Given the description of an element on the screen output the (x, y) to click on. 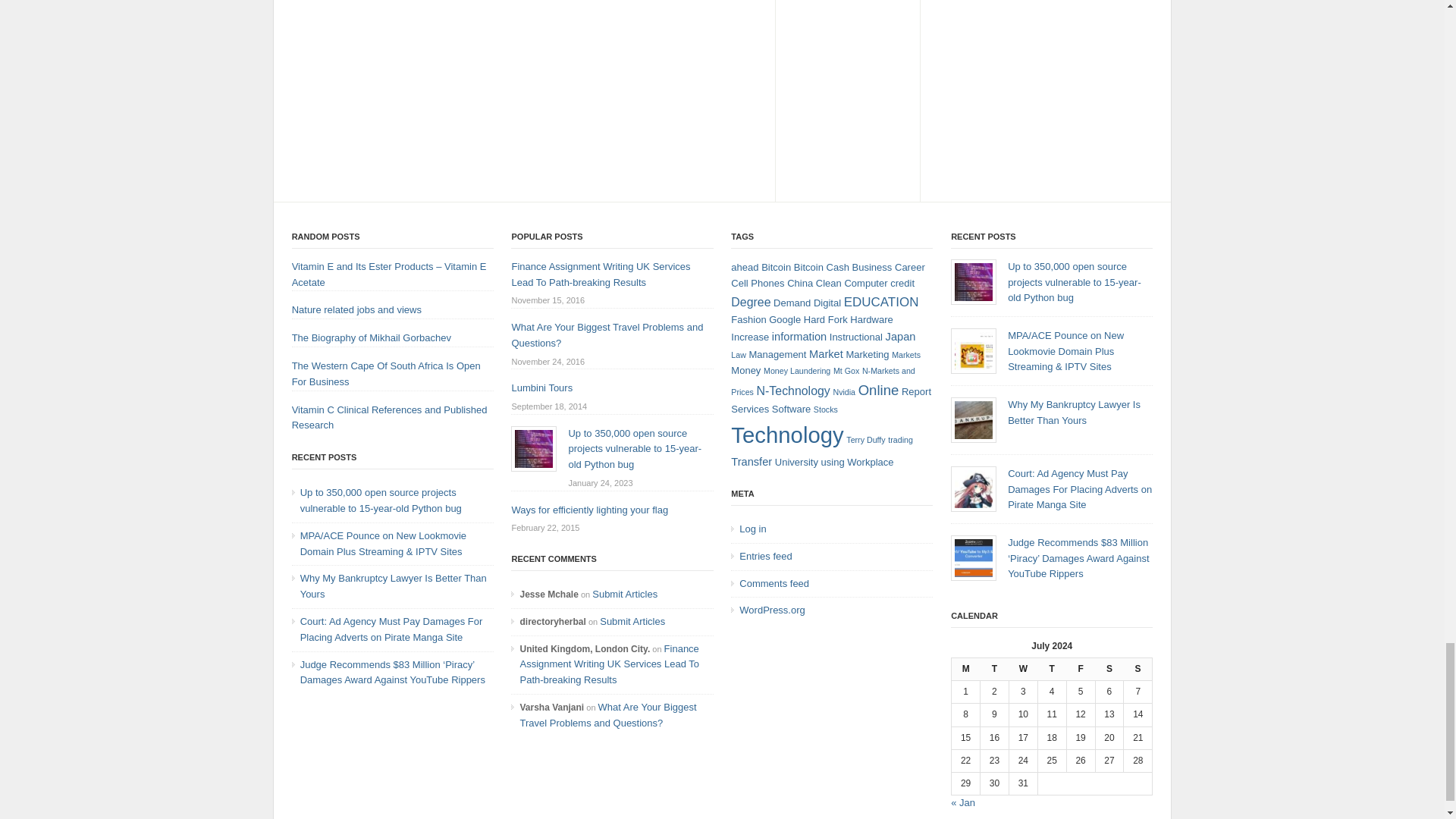
Wednesday (1022, 669)
Sunday (1138, 669)
Thursday (1050, 669)
Monday (965, 669)
Saturday (1109, 669)
Friday (1079, 669)
Tuesday (994, 669)
